Given the description of an element on the screen output the (x, y) to click on. 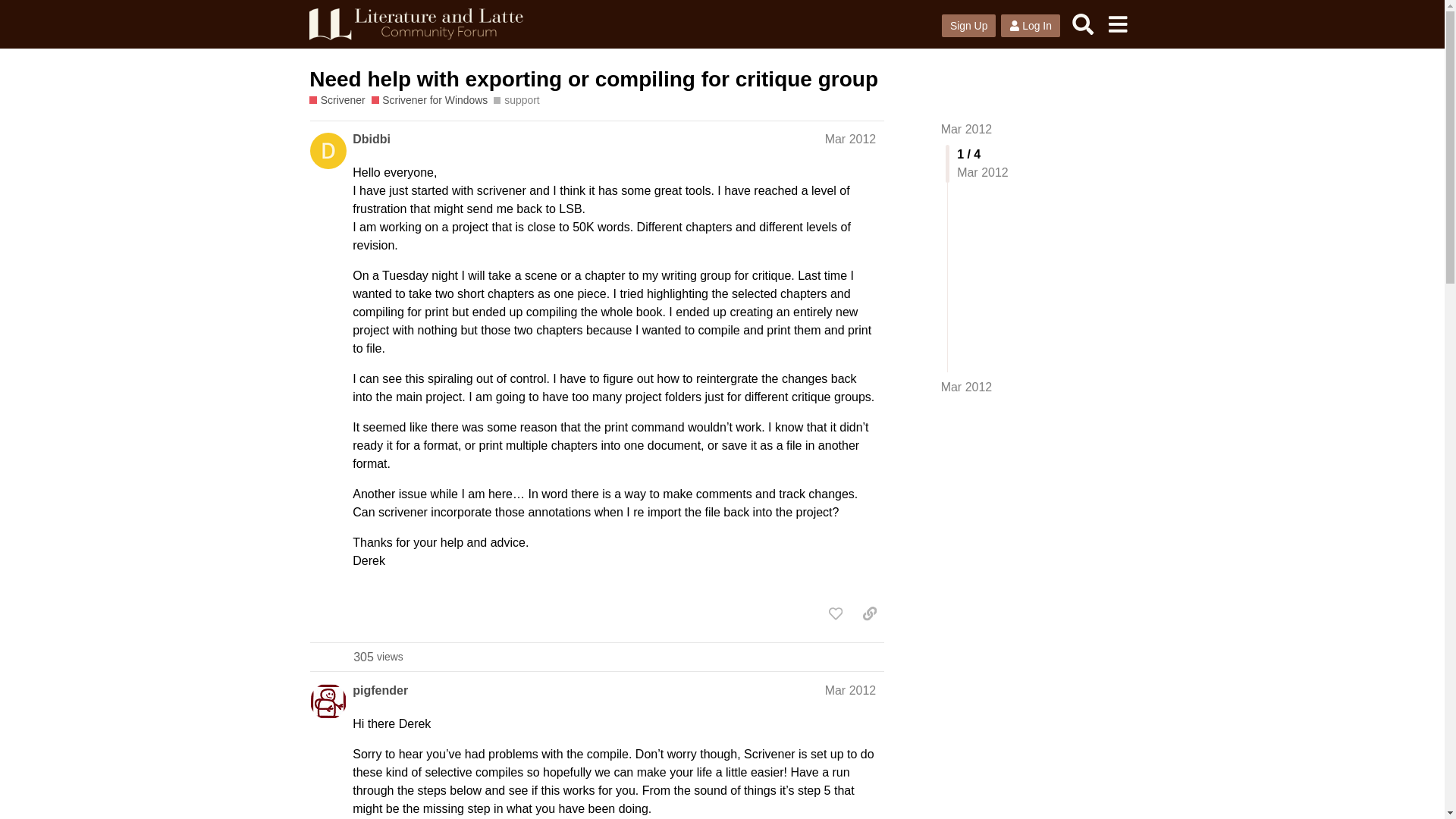
copy a link to this post to clipboard (869, 613)
Jump to the last post (966, 386)
Log In (1030, 25)
Sign Up (968, 25)
support (515, 100)
like this post (835, 613)
menu (1117, 23)
Ask for help, report bugs, or give feedback for Scrivener. (336, 100)
Post date (850, 689)
Mar 2012 (850, 138)
